Given the description of an element on the screen output the (x, y) to click on. 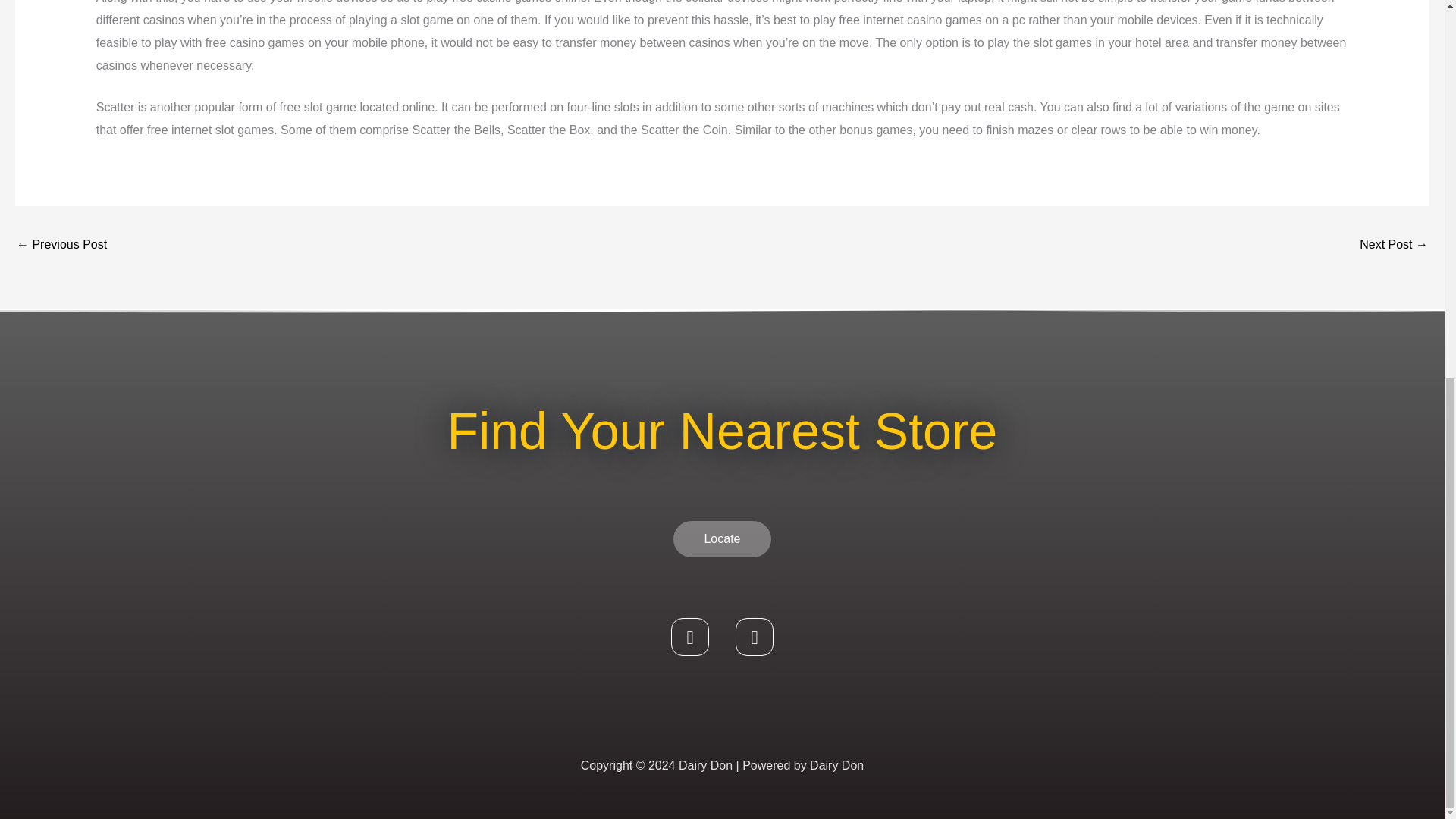
Locate (721, 538)
Tom look at here Trivial (61, 245)
Instagram (754, 637)
Facebook (690, 637)
